Given the description of an element on the screen output the (x, y) to click on. 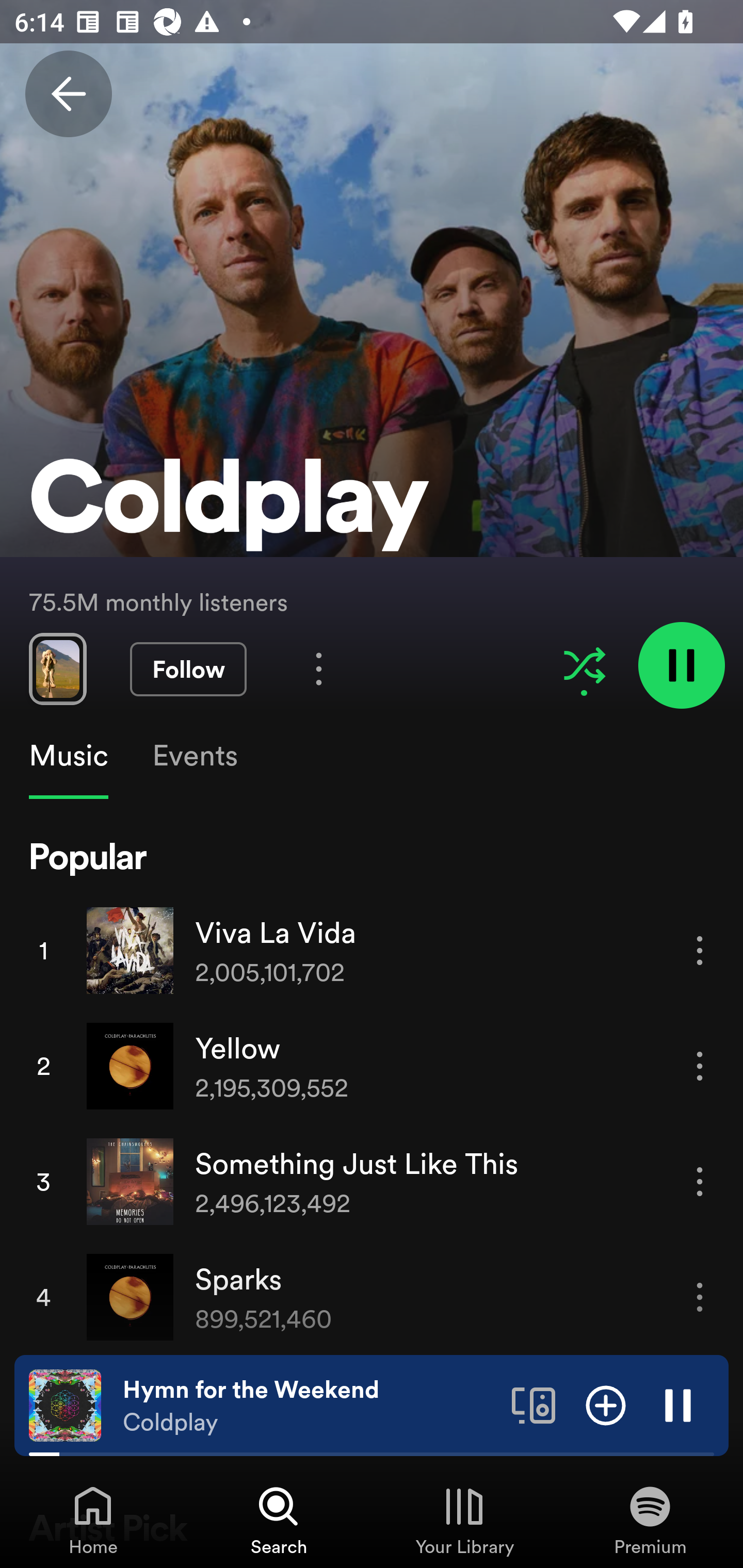
Back (68, 93)
Pause artist (681, 664)
Disable shuffle for this artist (583, 665)
Swipe through previews of tracks from this artist. (57, 668)
More options for artist Coldplay (318, 668)
Follow (188, 669)
Events (194, 755)
More options for song Viva La Vida (699, 950)
More options for song Yellow (699, 1066)
More options for song Something Just Like This (699, 1181)
4 Sparks 899,521,460 More options for song Sparks (371, 1296)
More options for song Sparks (699, 1297)
Hymn for the Weekend Coldplay (309, 1405)
The cover art of the currently playing track (64, 1404)
Connect to a device. Opens the devices menu (533, 1404)
Add item (605, 1404)
Pause (677, 1404)
Home, Tab 1 of 4 Home Home (92, 1519)
Search, Tab 2 of 4 Search Search (278, 1519)
Your Library, Tab 3 of 4 Your Library Your Library (464, 1519)
Premium, Tab 4 of 4 Premium Premium (650, 1519)
